Given the description of an element on the screen output the (x, y) to click on. 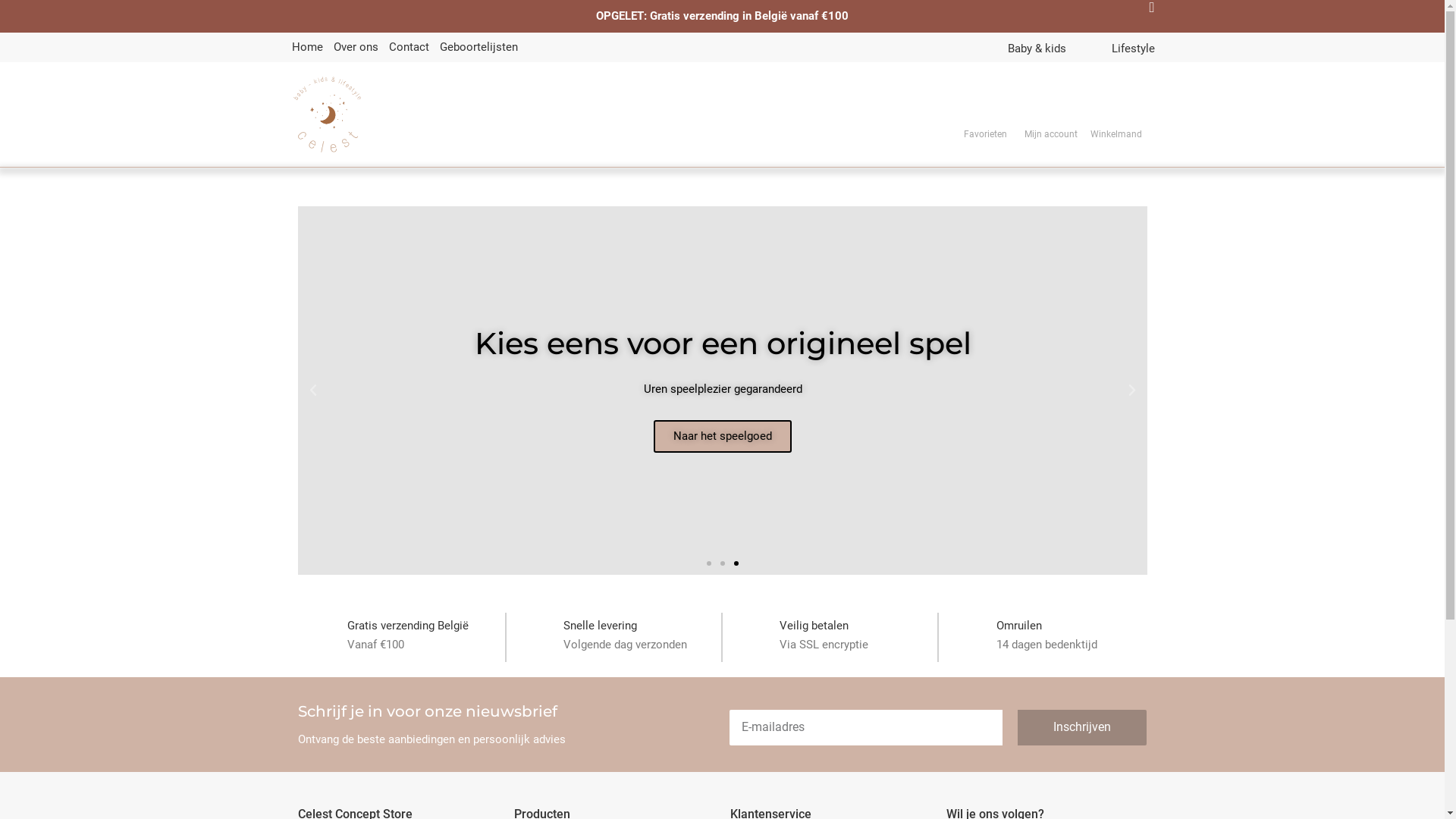
Geboortelijsten Element type: text (478, 46)
Contact Element type: text (407, 46)
Home Element type: text (306, 46)
Inschrijven Element type: text (1081, 727)
Naar de kledij Element type: text (389, 436)
Over ons Element type: text (355, 46)
